Given the description of an element on the screen output the (x, y) to click on. 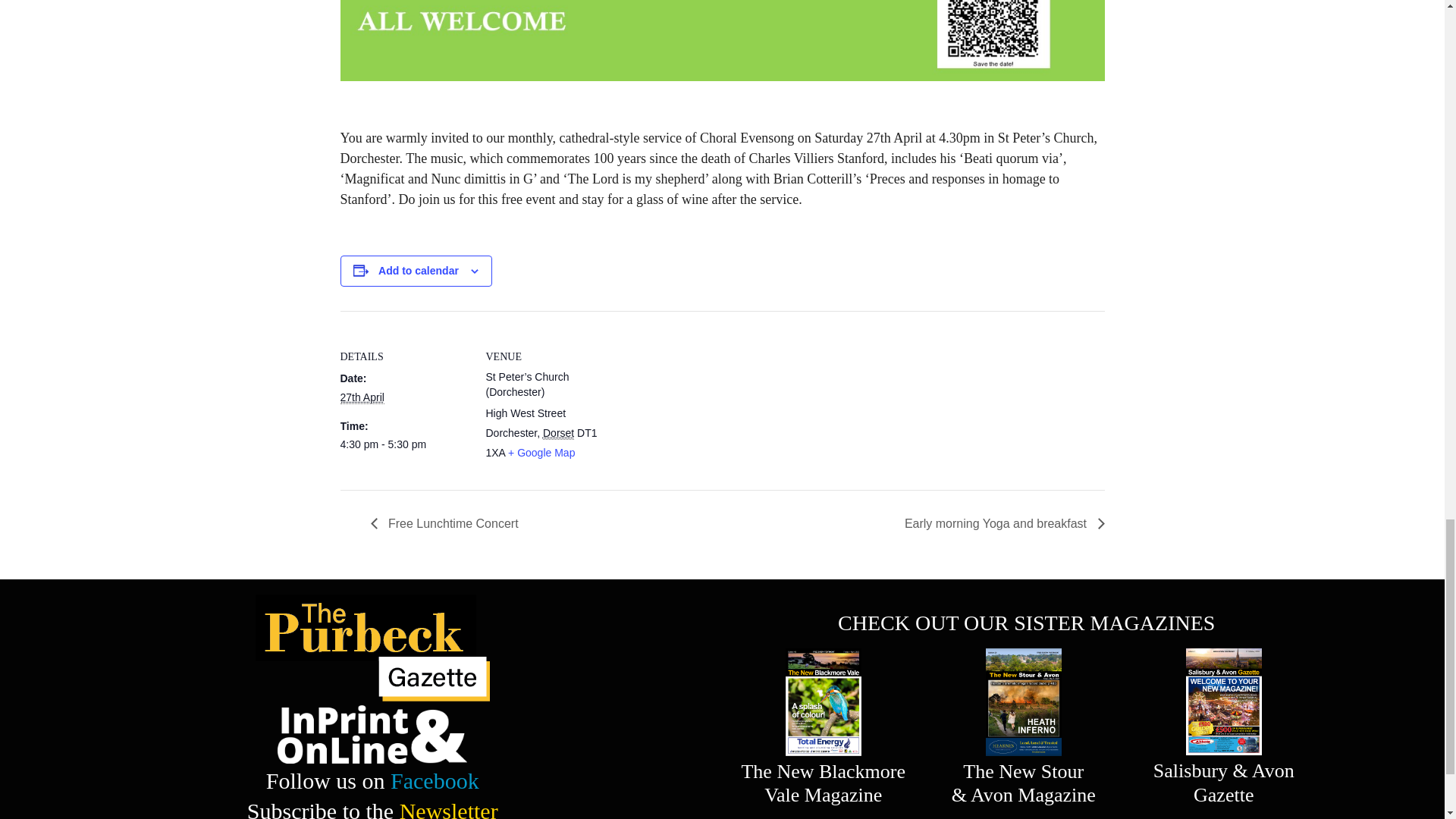
Click to view a Google Map (541, 452)
2024-04-27 (403, 444)
2024-04-27 (361, 397)
Dorset (558, 432)
